Given the description of an element on the screen output the (x, y) to click on. 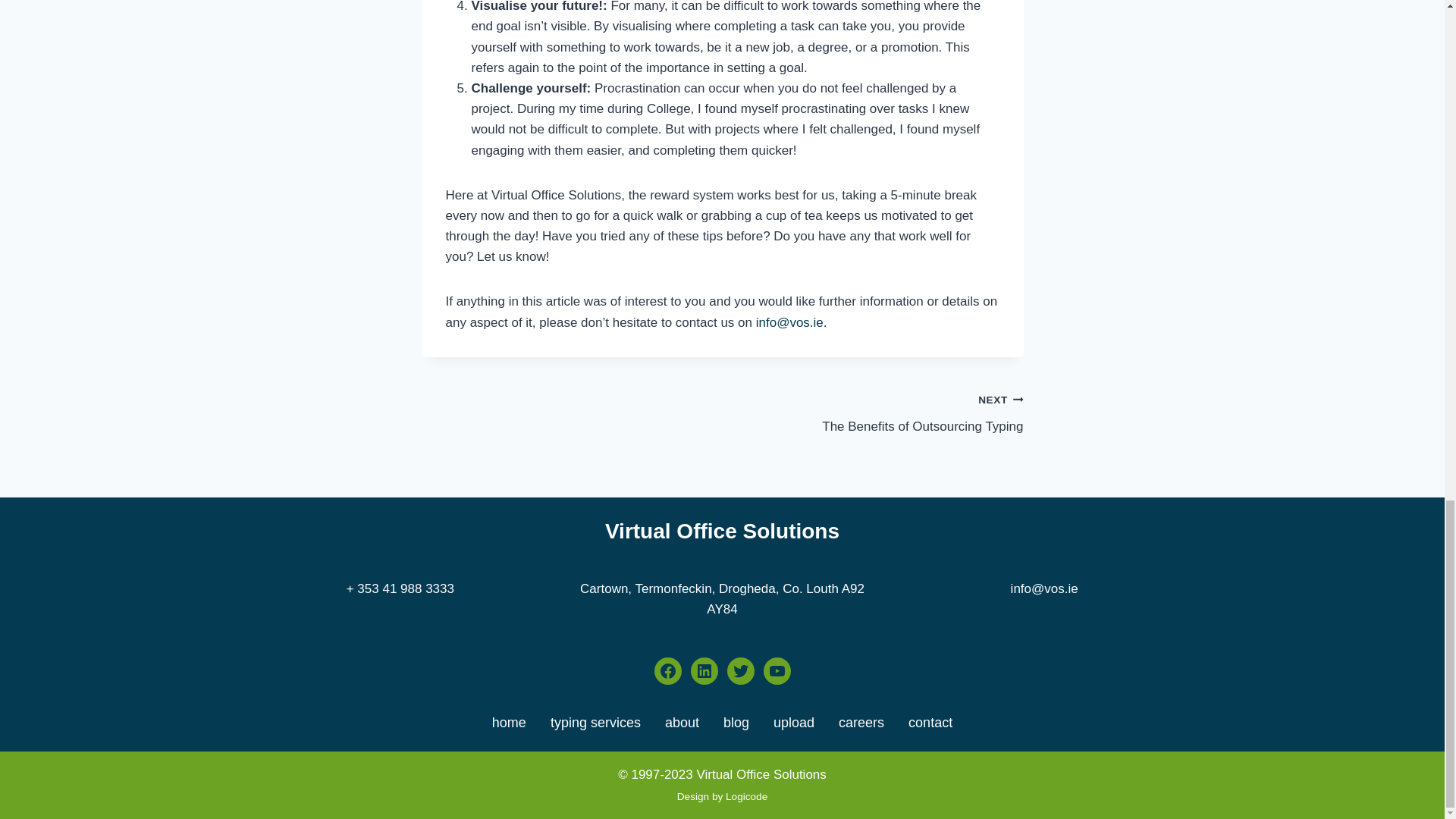
home (508, 722)
upload (793, 722)
YouTube (776, 670)
LinkedIn (703, 670)
Design by Logicode (722, 796)
blog (736, 722)
contact (930, 722)
careers (860, 722)
Twitter (740, 670)
about (681, 722)
typing services (872, 412)
Facebook (595, 722)
